Given the description of an element on the screen output the (x, y) to click on. 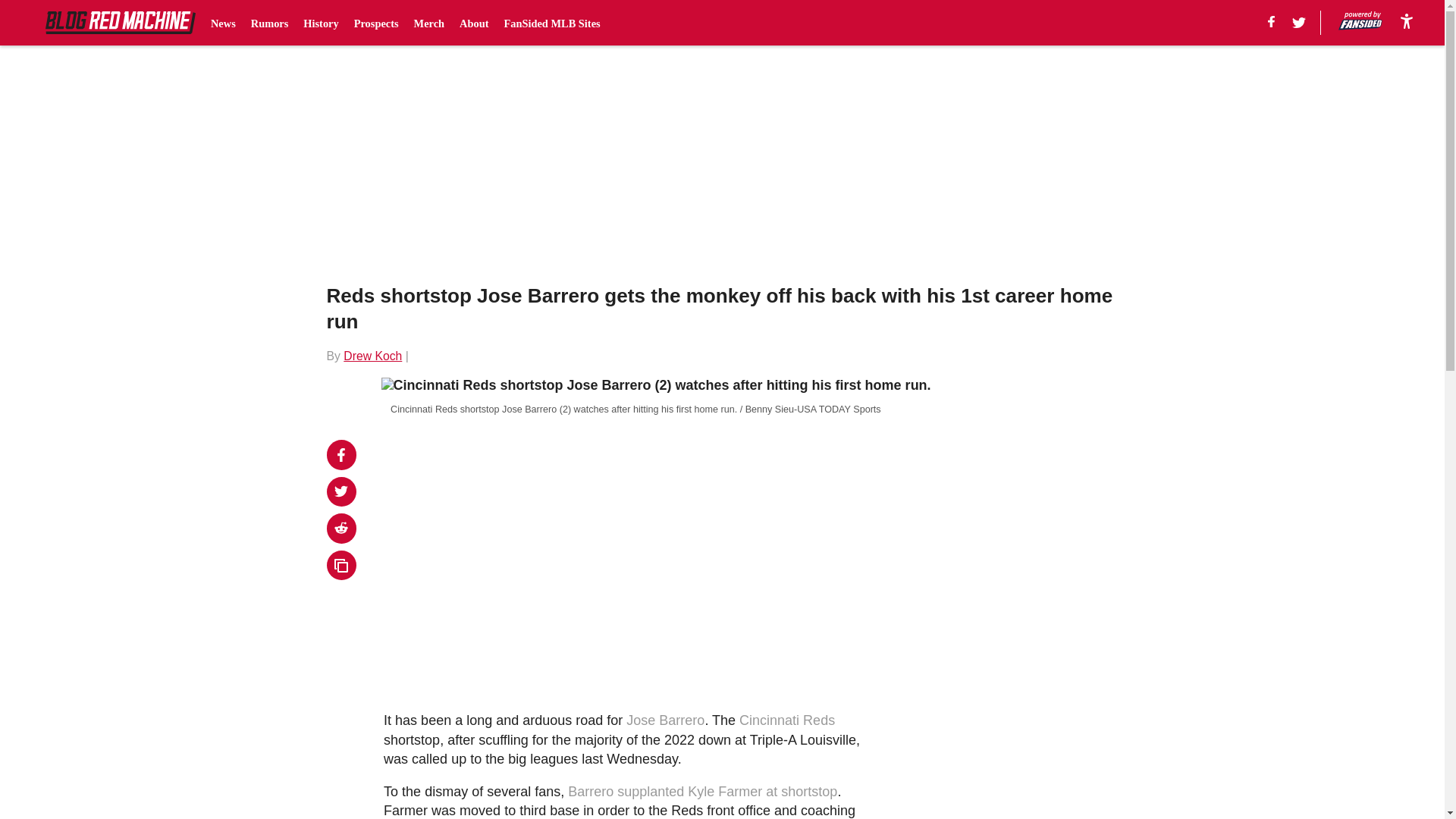
About (473, 23)
Jose Barrero (665, 720)
Drew Koch (372, 355)
History (319, 23)
Prospects (375, 23)
News (223, 23)
Merch (429, 23)
Barrero supplanted Kyle Farmer at shortstop (702, 791)
FanSided MLB Sites (551, 23)
Cincinnati Reds (786, 720)
Rumors (269, 23)
